Given the description of an element on the screen output the (x, y) to click on. 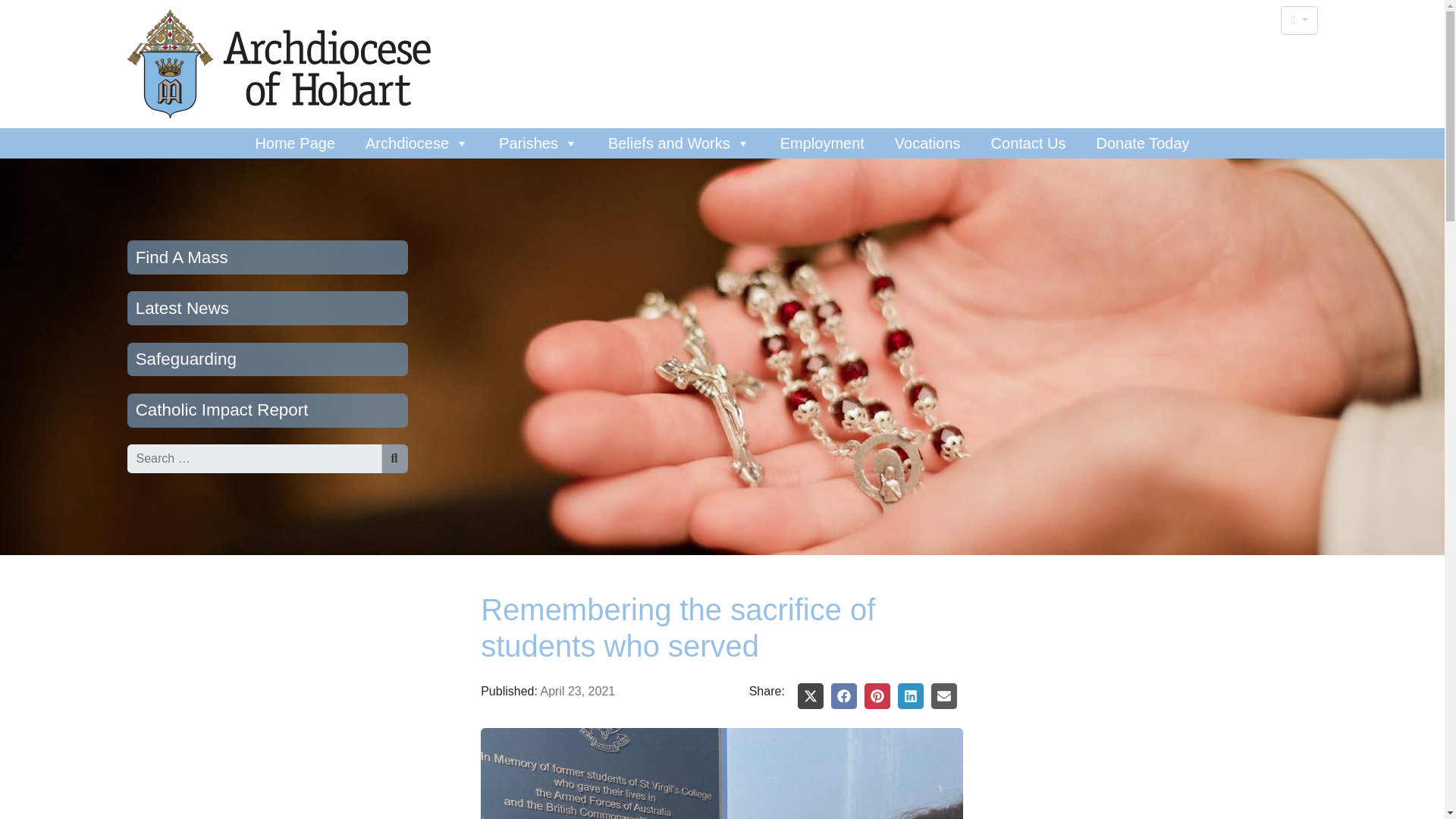
Archdiocese (416, 142)
Parishes (537, 142)
Archdiocese of Hobart (279, 64)
Change font size (1299, 20)
Home Page (295, 142)
